Given the description of an element on the screen output the (x, y) to click on. 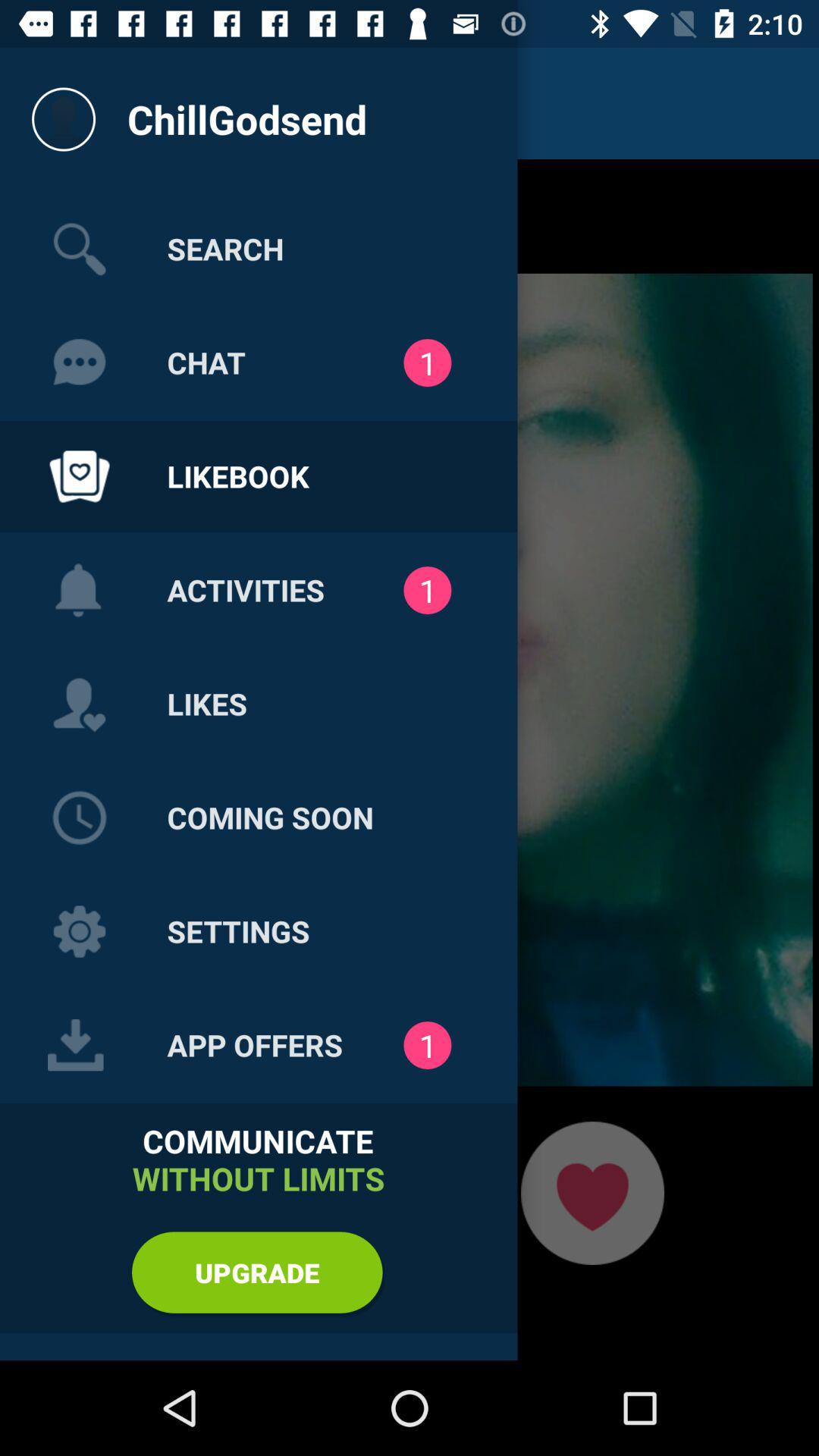
select the icon below bell icon (79, 704)
select the text below the notification bar (246, 119)
click the like button below image (592, 1193)
